Given the description of an element on the screen output the (x, y) to click on. 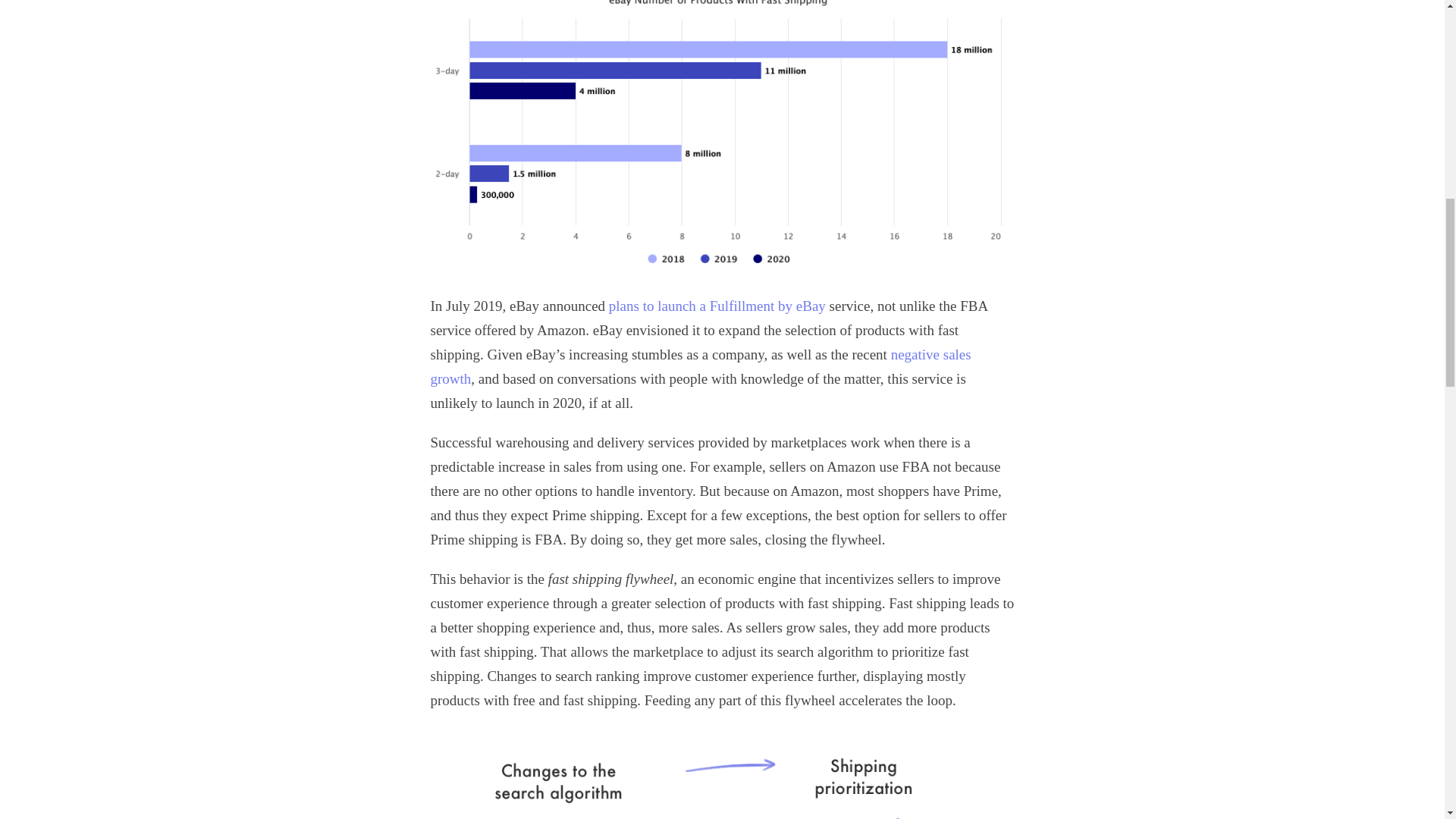
negative sales growth (700, 366)
plans to launch a Fulfillment by eBay (716, 305)
